Given the description of an element on the screen output the (x, y) to click on. 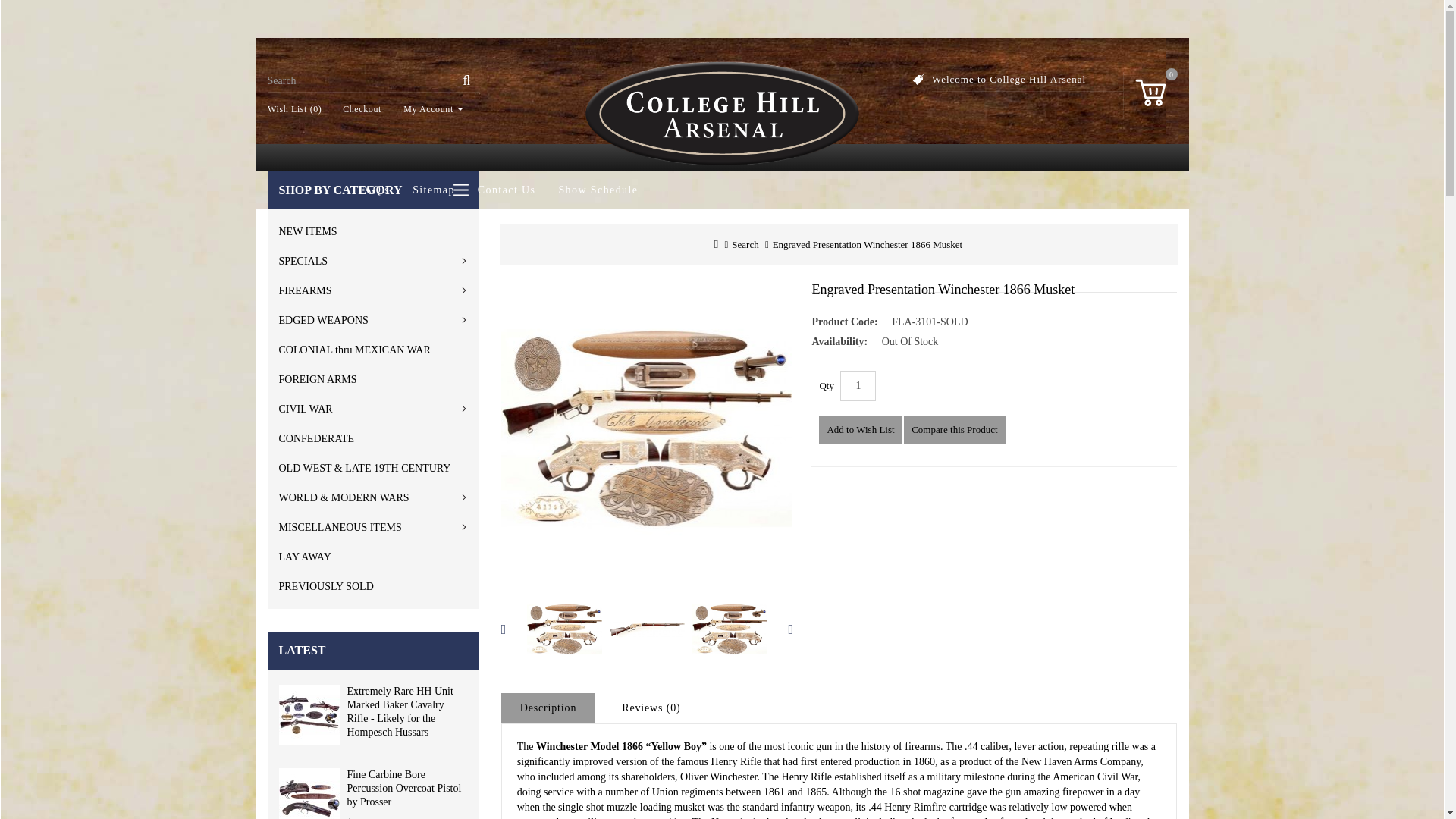
College Hill Arsenal (721, 113)
Fine Carbine Bore Percussion Overcoat Pistol by Prosser  (309, 793)
My Account (428, 109)
Engraved Presentation Winchester 1866 Musket (647, 629)
0 (1150, 89)
Checkout (356, 109)
Engraved Presentation Winchester 1866 Musket (646, 428)
Engraved Presentation Winchester 1866 Musket (730, 629)
1 (858, 386)
